Given the description of an element on the screen output the (x, y) to click on. 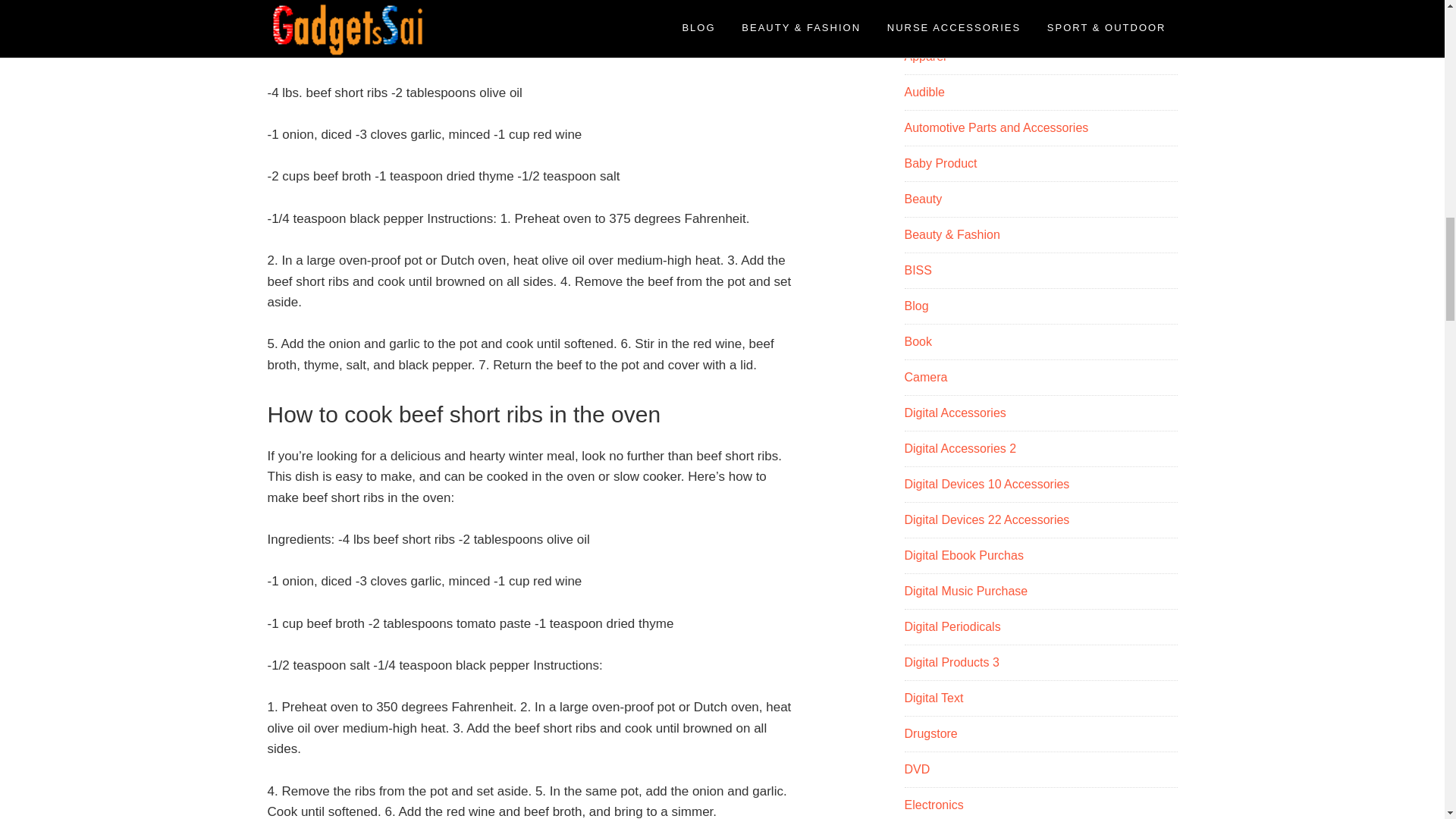
Audible (923, 91)
Baby Product (940, 163)
Automotive Parts and Accessories (995, 127)
Apparel (924, 56)
Beauty (923, 198)
